Given the description of an element on the screen output the (x, y) to click on. 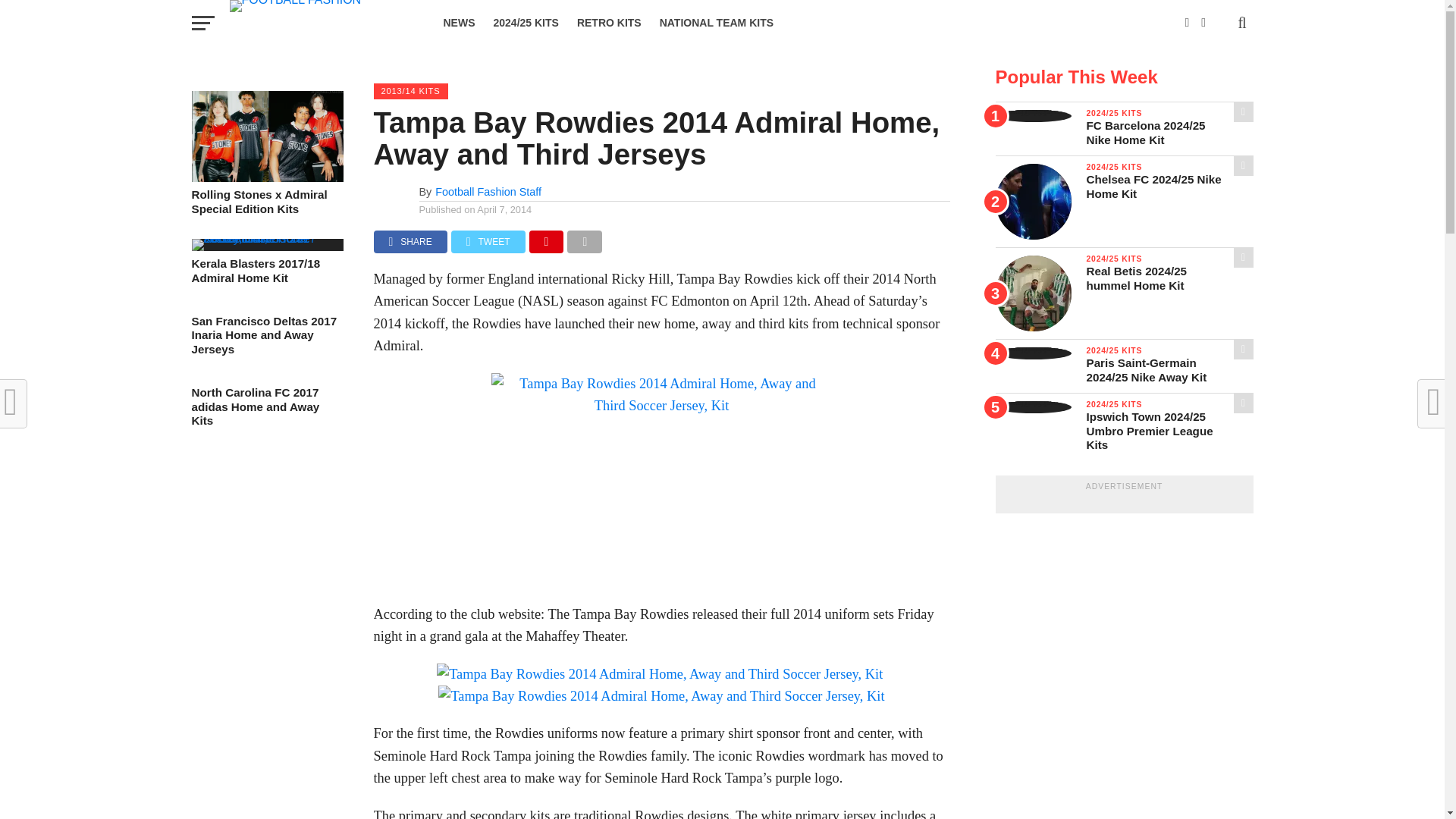
Rolling Stones x Admiral Special Edition Kits (266, 177)
Posts by Football Fashion Staff (488, 191)
